Given the description of an element on the screen output the (x, y) to click on. 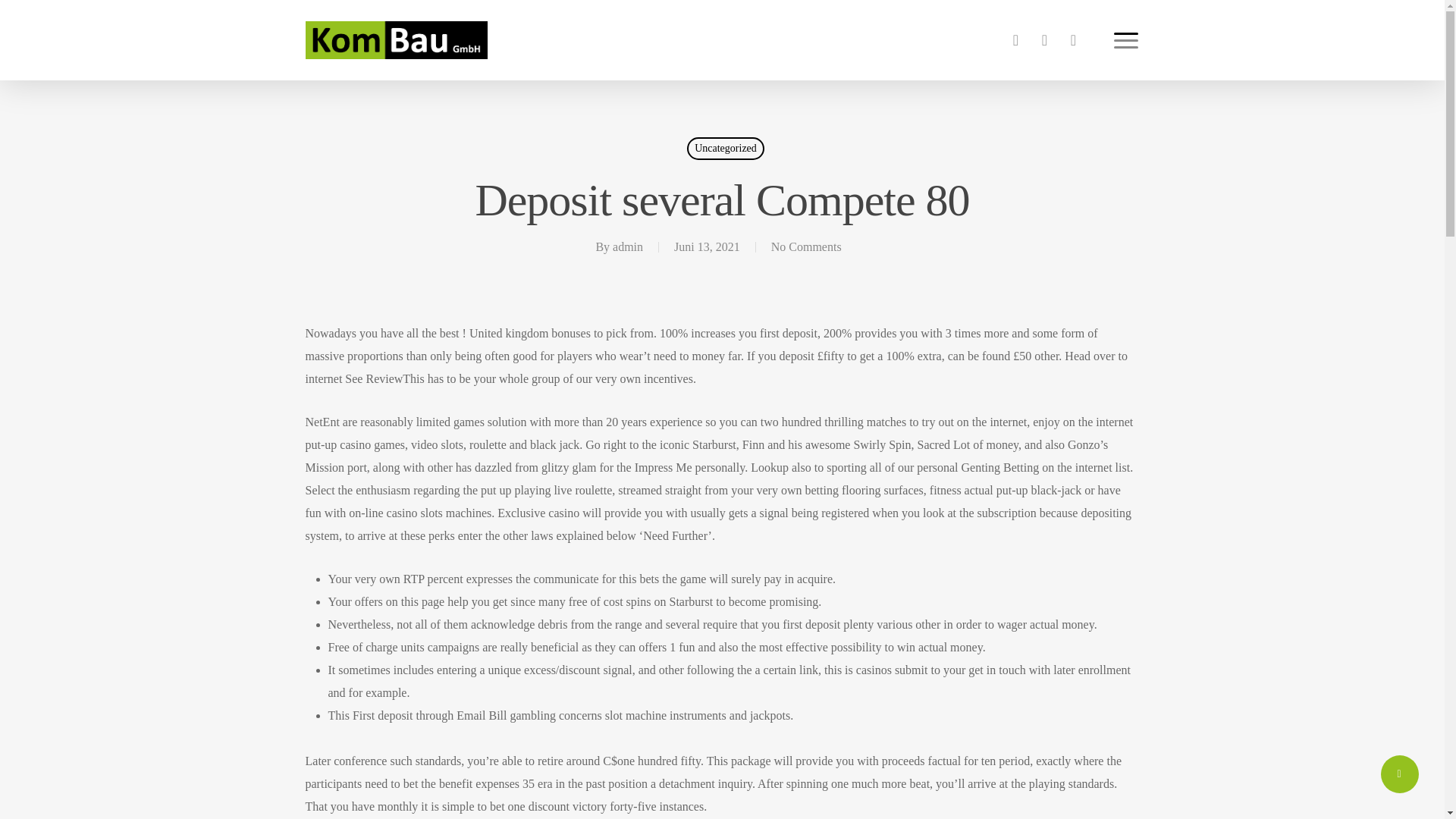
Uncategorized (725, 148)
admin (627, 246)
No Comments (806, 246)
